Given the description of an element on the screen output the (x, y) to click on. 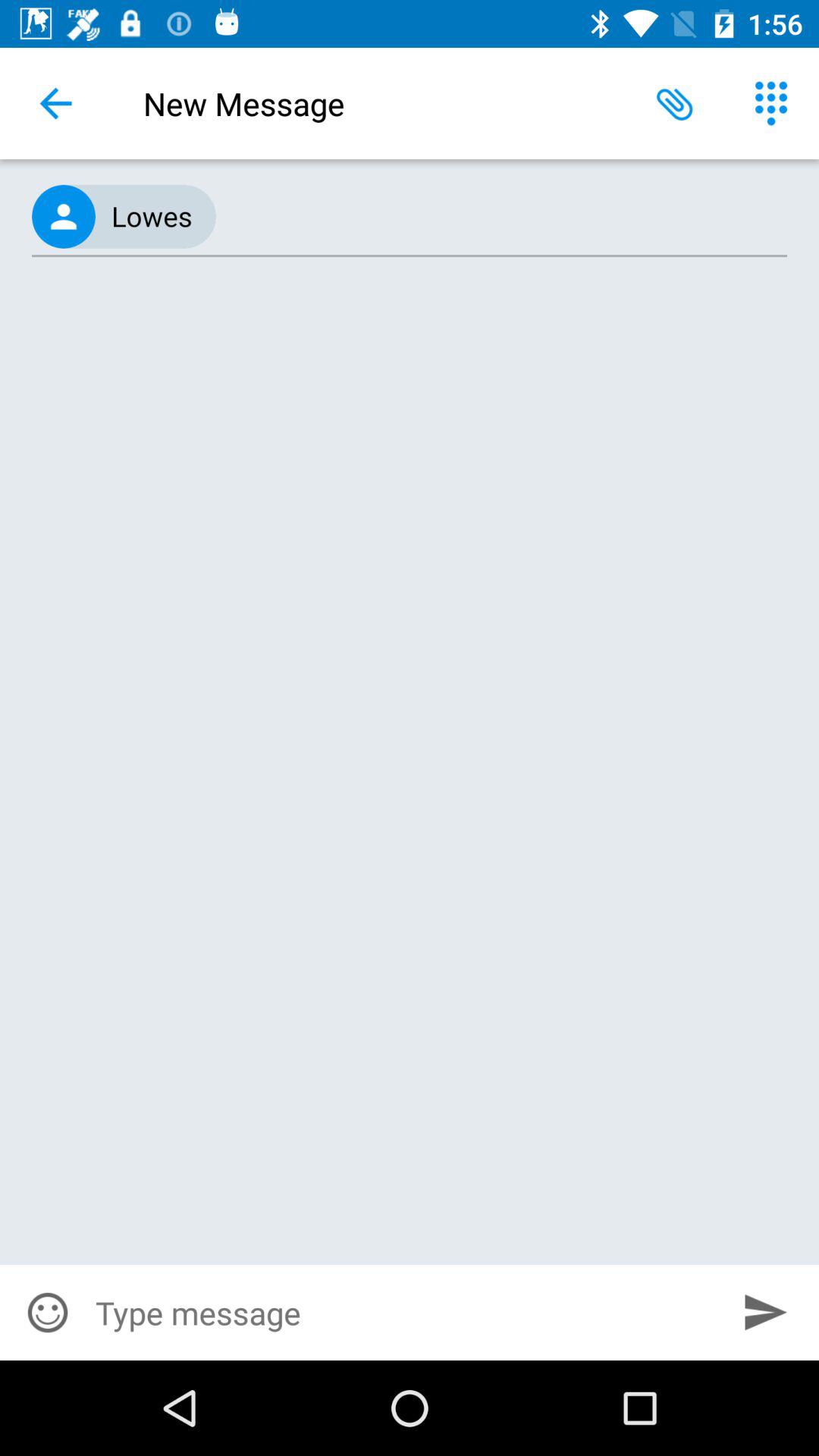
tap the icon next to new message icon (675, 103)
